Given the description of an element on the screen output the (x, y) to click on. 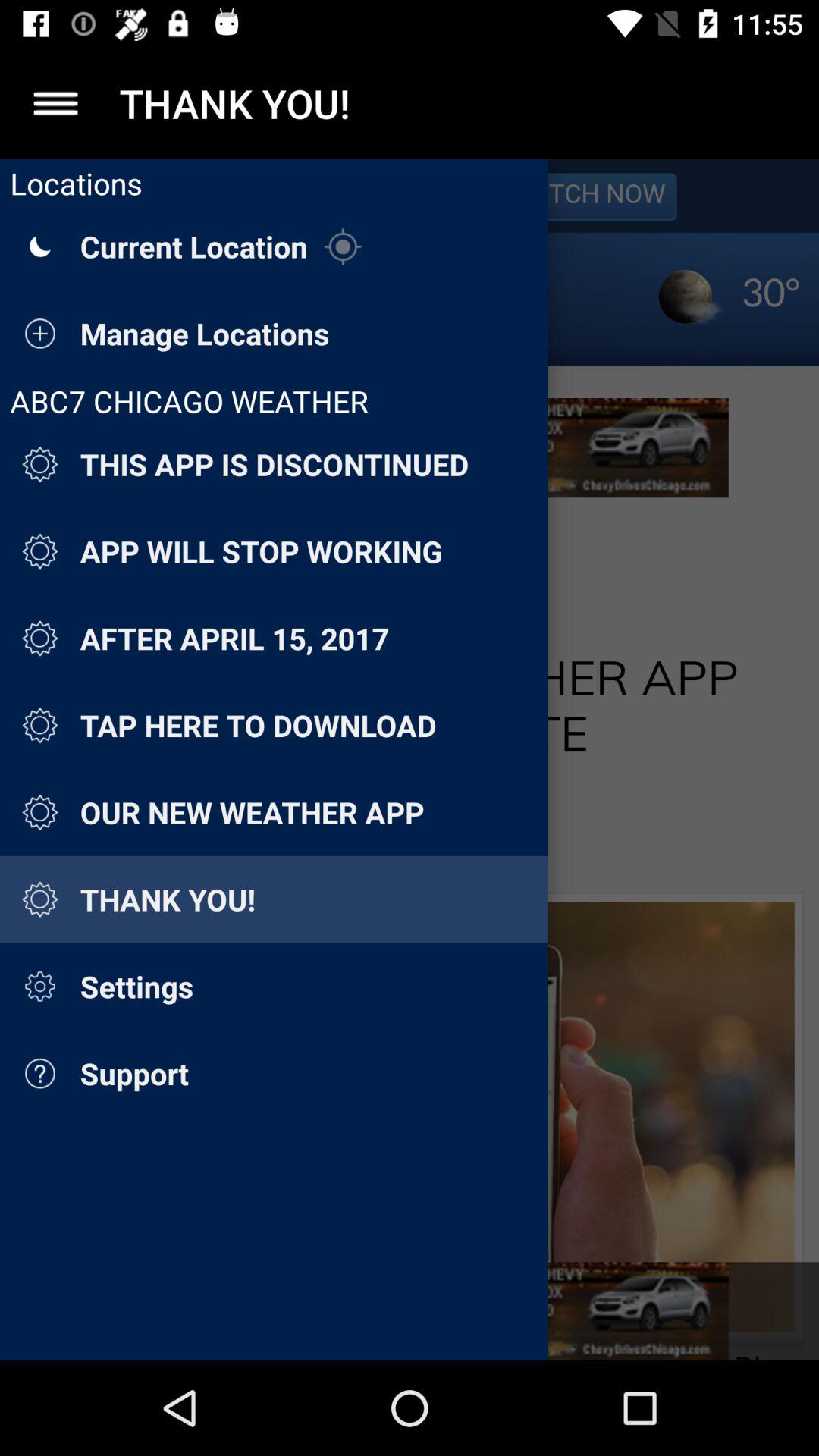
click icon next to the thank you! app (55, 103)
